Given the description of an element on the screen output the (x, y) to click on. 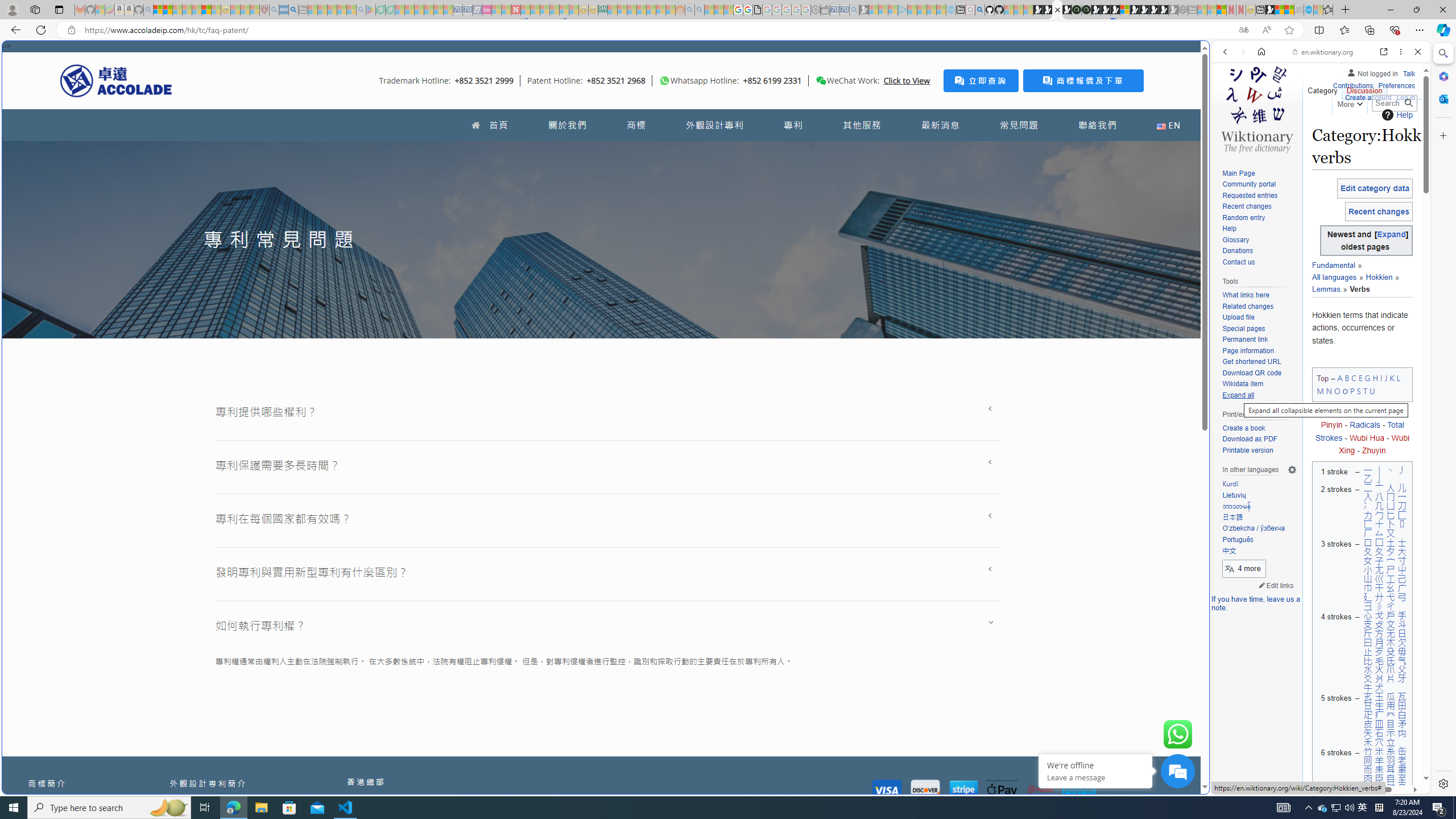
Download as PDF (1248, 438)
github - Search (979, 9)
Go (1408, 102)
